Given the description of an element on the screen output the (x, y) to click on. 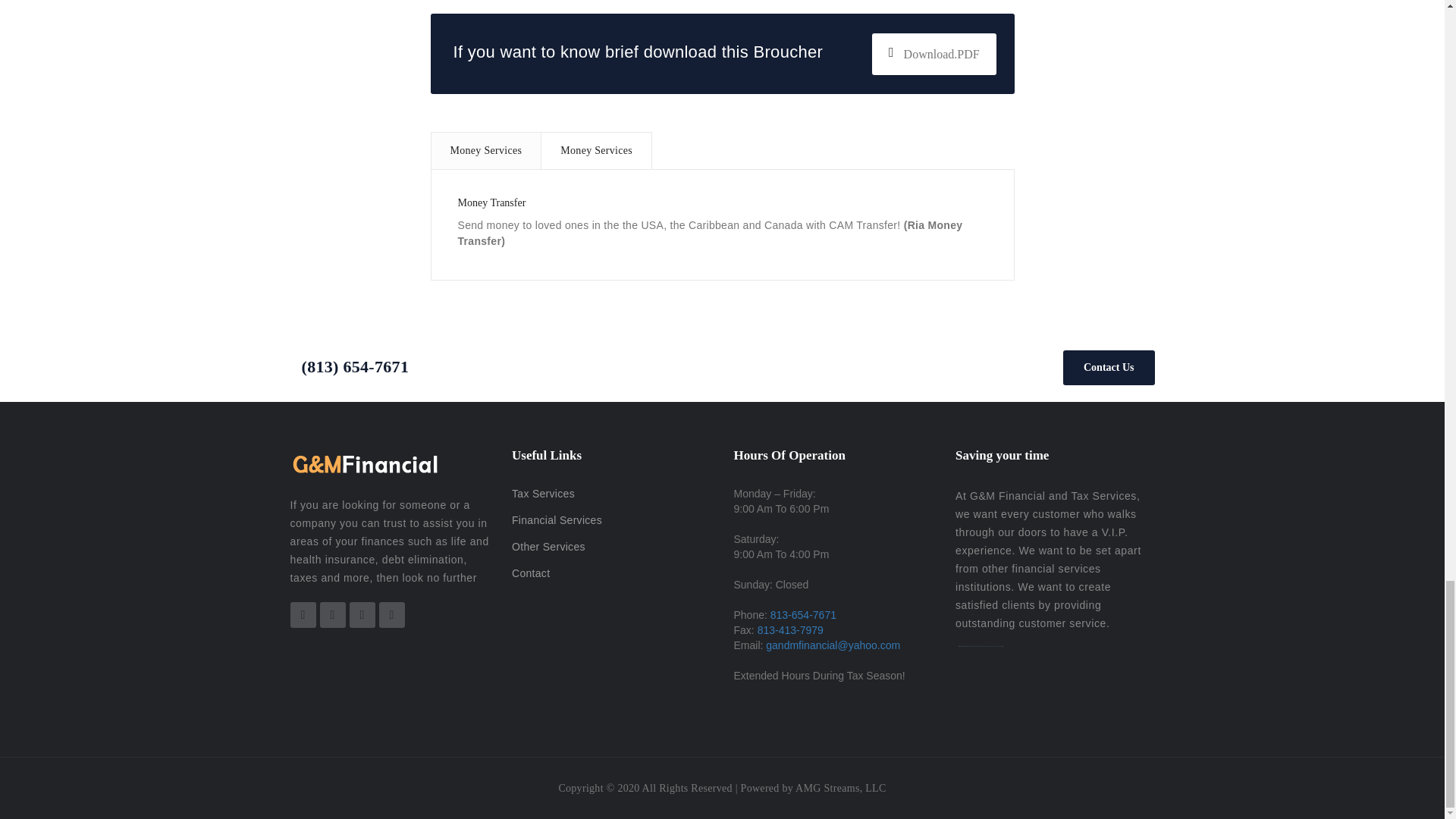
Tax Services (543, 493)
Contact Us (1108, 367)
Contact (531, 573)
Financial Services (557, 520)
Download.PDF (933, 54)
Money Services (485, 150)
Money Services (595, 150)
Other Services (548, 546)
813-413-7979 (790, 630)
813-654-7671 (802, 614)
